Given the description of an element on the screen output the (x, y) to click on. 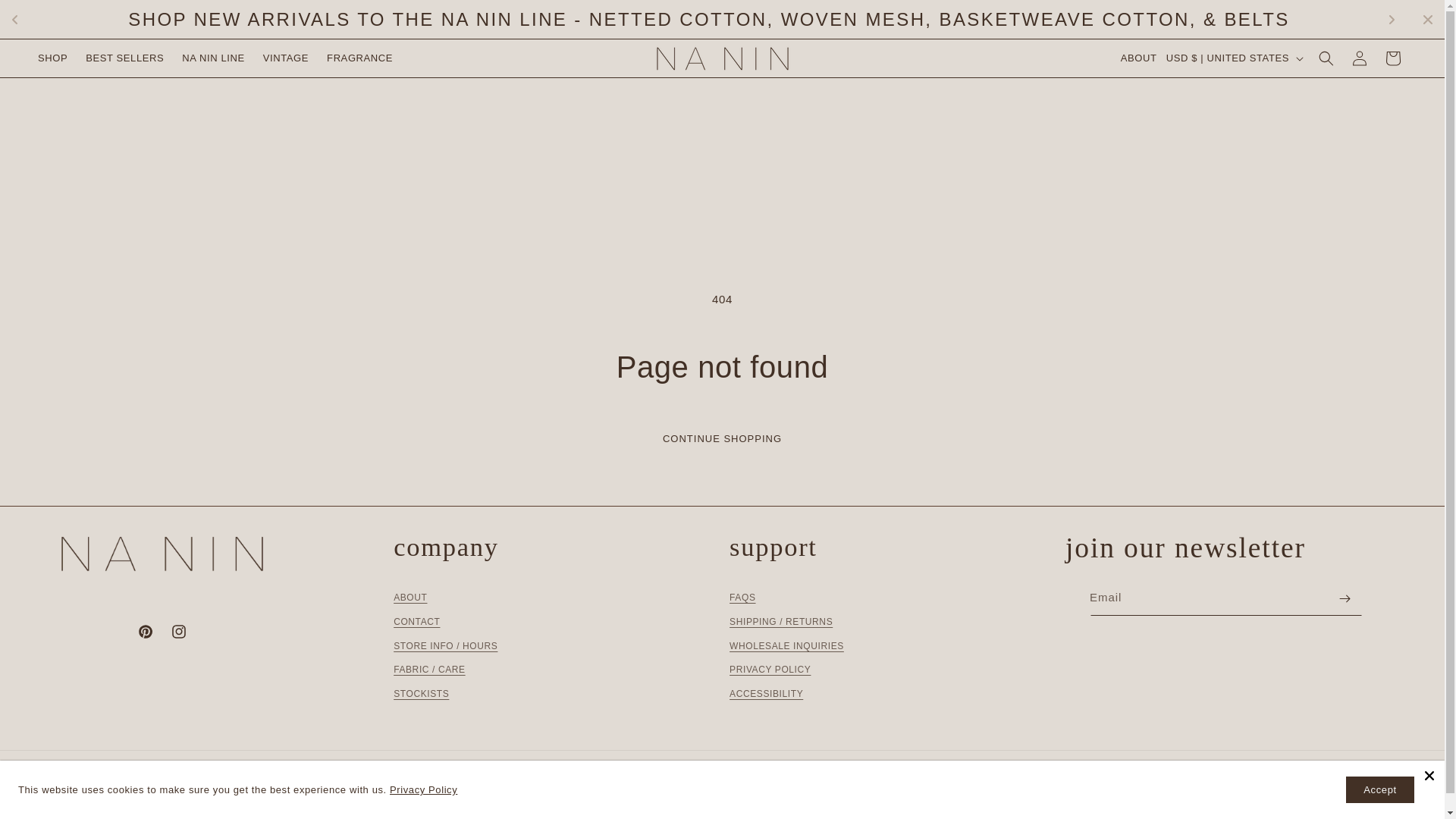
Privacy Policy (423, 789)
SKIP TO CONTENT (22, 13)
